Given the description of an element on the screen output the (x, y) to click on. 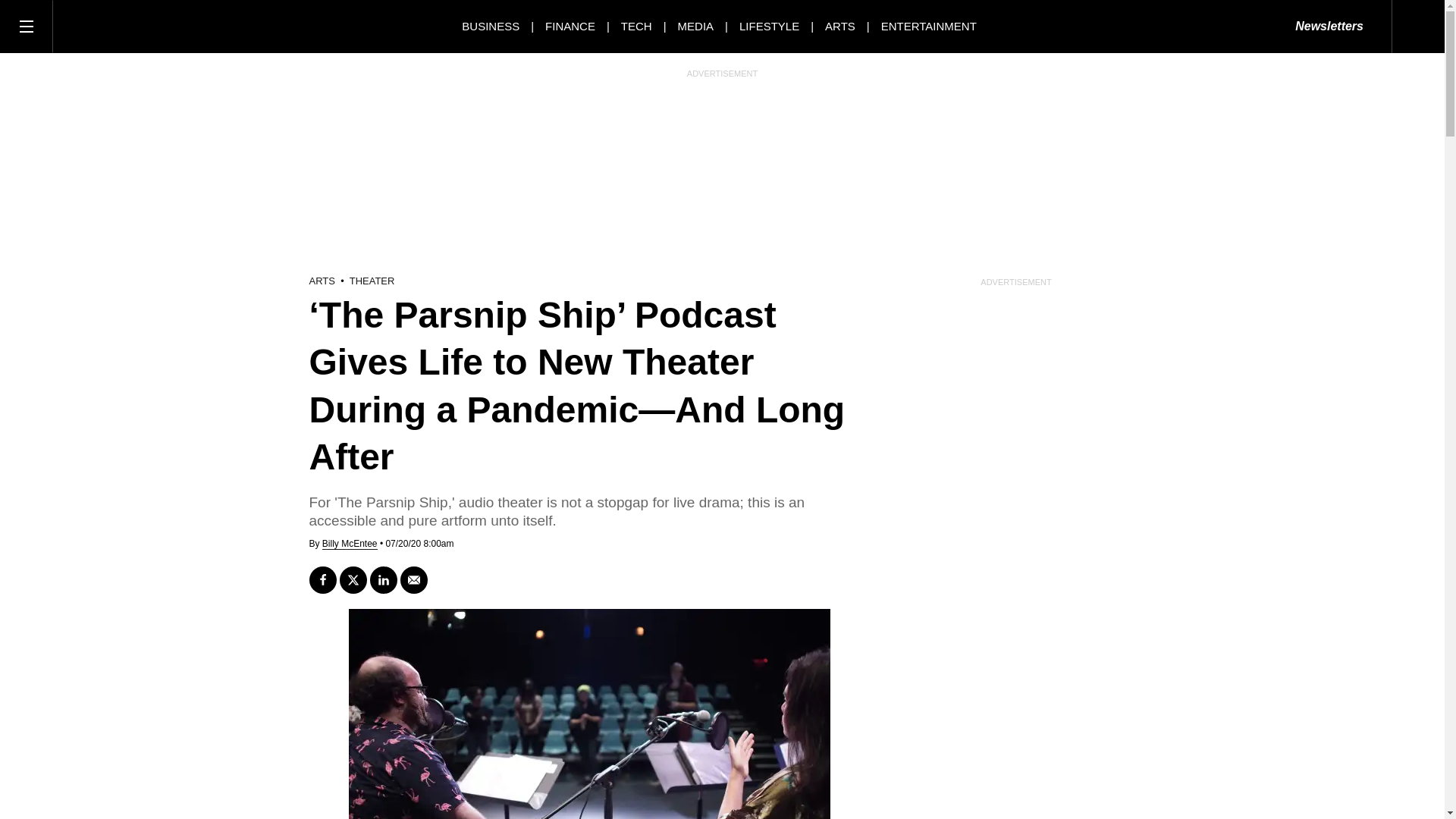
FINANCE (569, 25)
ARTS (840, 25)
Observer (121, 26)
Tweet (352, 579)
Newsletters (1329, 26)
BUSINESS (490, 25)
ENTERTAINMENT (928, 25)
Share on Facebook (322, 579)
MEDIA (696, 25)
LIFESTYLE (769, 25)
